Given the description of an element on the screen output the (x, y) to click on. 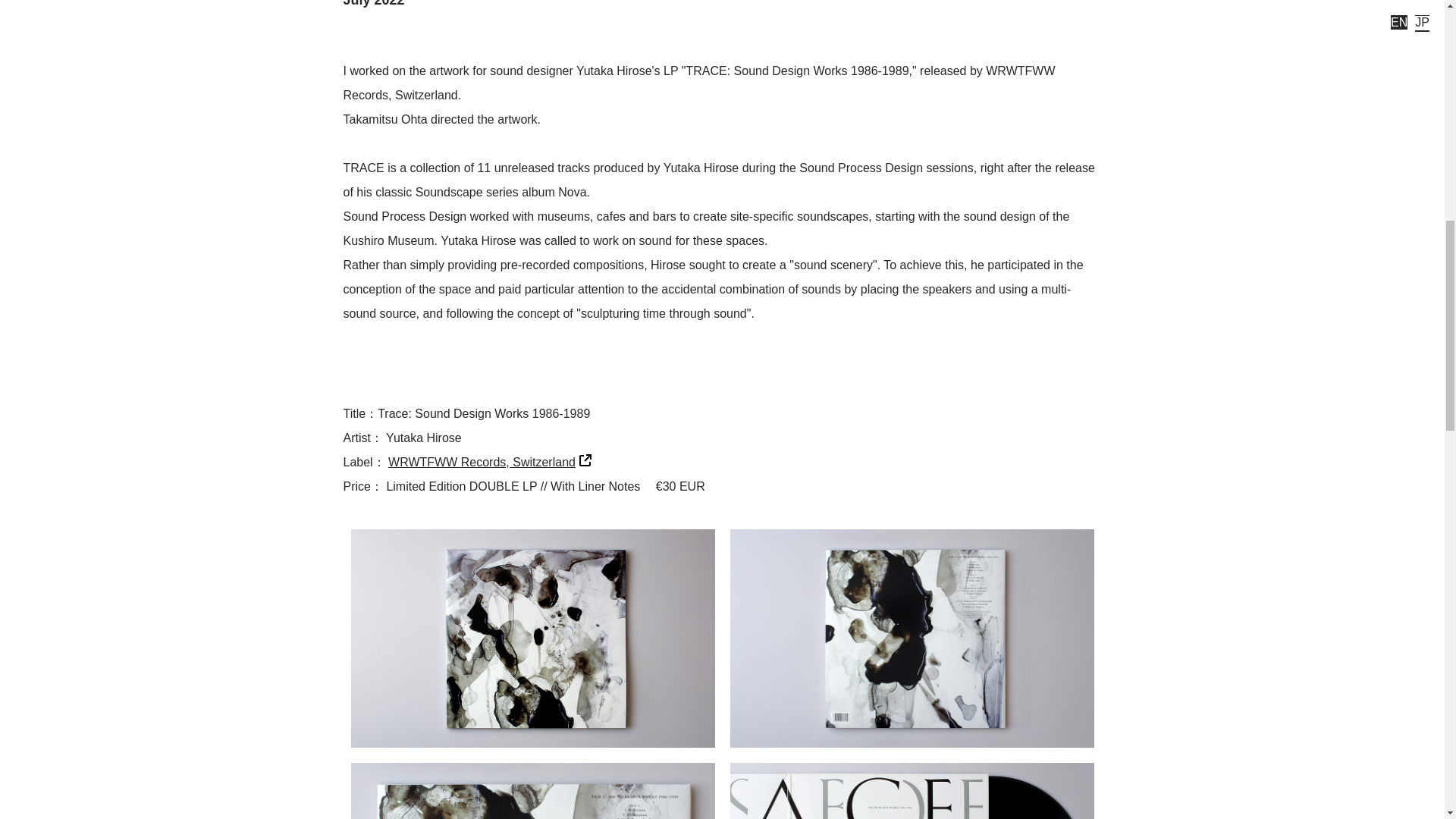
WRWTFWW Records, Switzerland (489, 461)
